Given the description of an element on the screen output the (x, y) to click on. 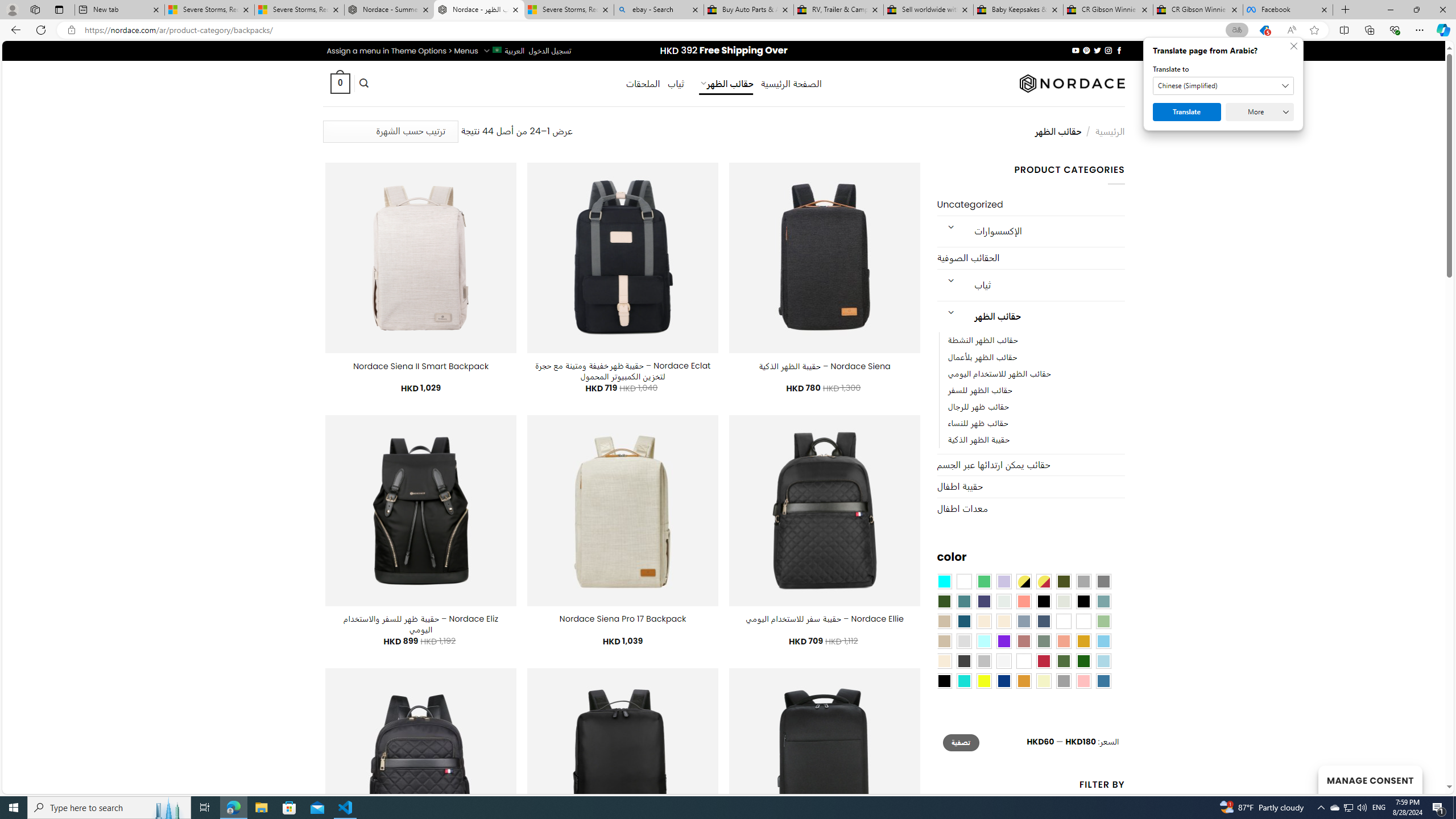
Dusty Blue (1023, 621)
Dull Nickle (1003, 601)
Kelp (1063, 621)
